Given the description of an element on the screen output the (x, y) to click on. 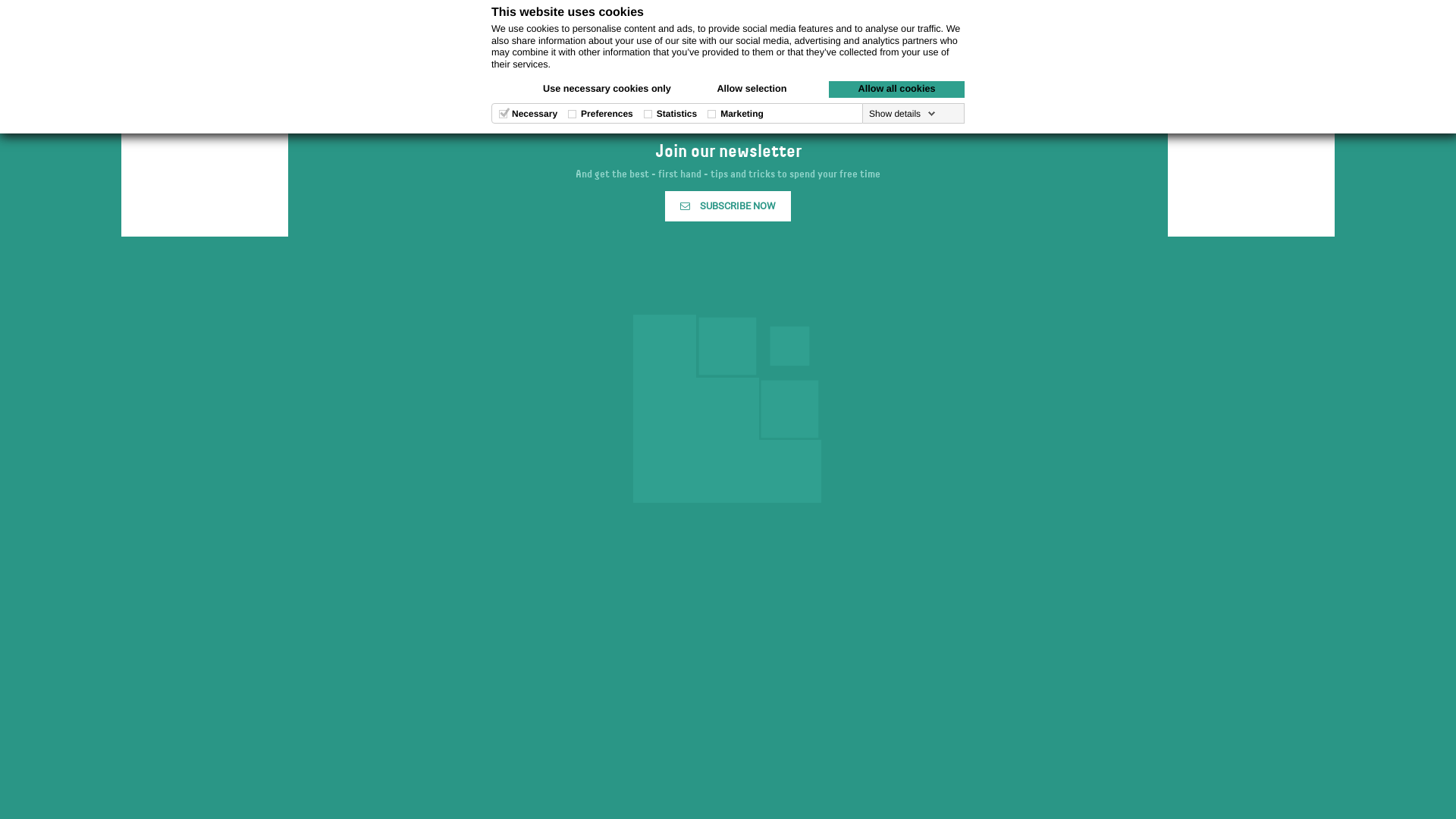
Allow selection Element type: text (751, 89)
Toggle navigation Element type: text (1314, 13)
Use necessary cookies only Element type: text (606, 89)
Allow all cookies Element type: text (896, 89)
SUBSCRIBE NOW Element type: text (727, 206)
Show details Element type: text (902, 113)
